Given the description of an element on the screen output the (x, y) to click on. 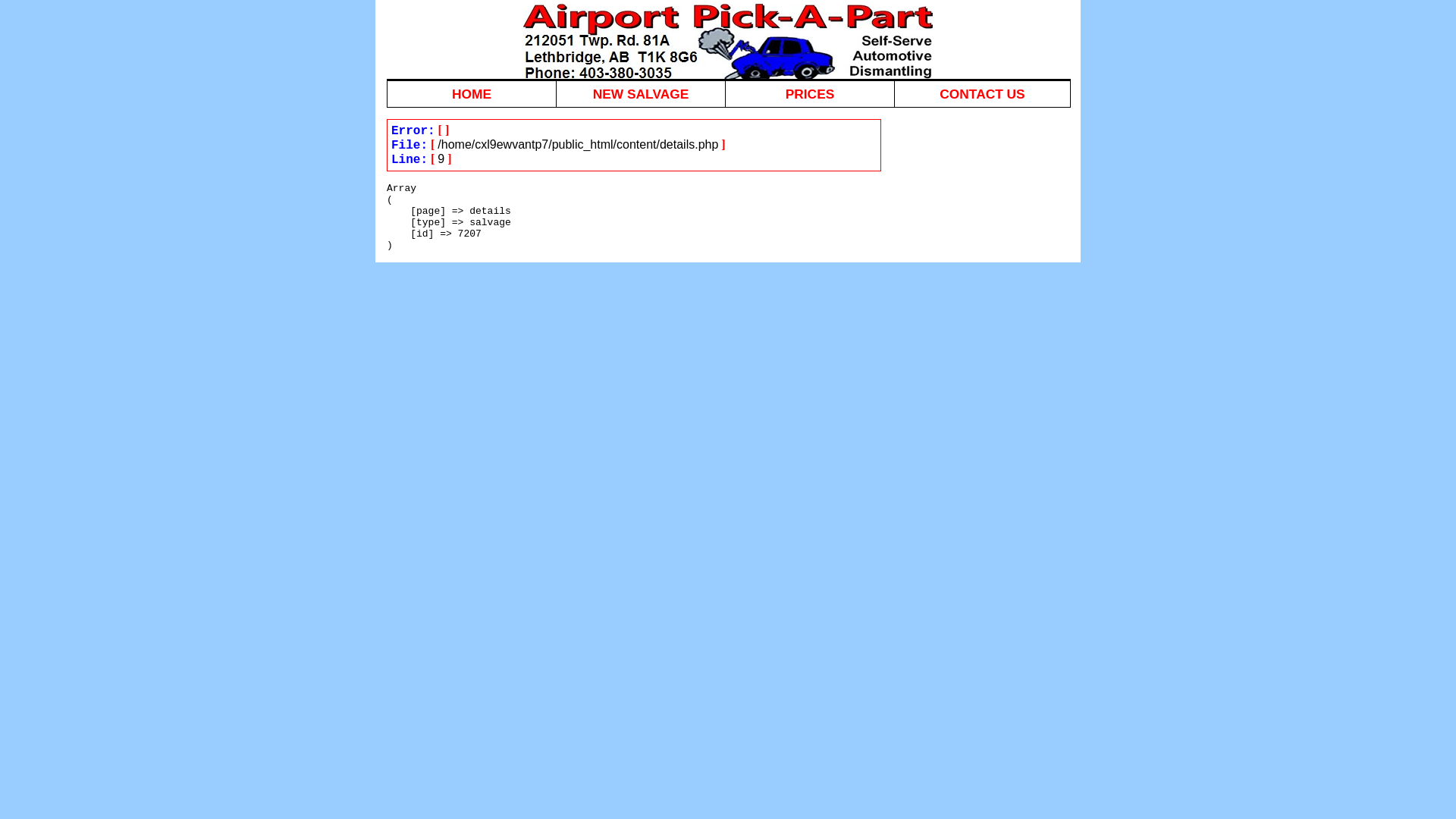
HOME Element type: text (471, 93)
CONTACT US Element type: text (728, 93)
PRICES Element type: text (809, 93)
NEW SALVAGE Element type: text (640, 93)
